Given the description of an element on the screen output the (x, y) to click on. 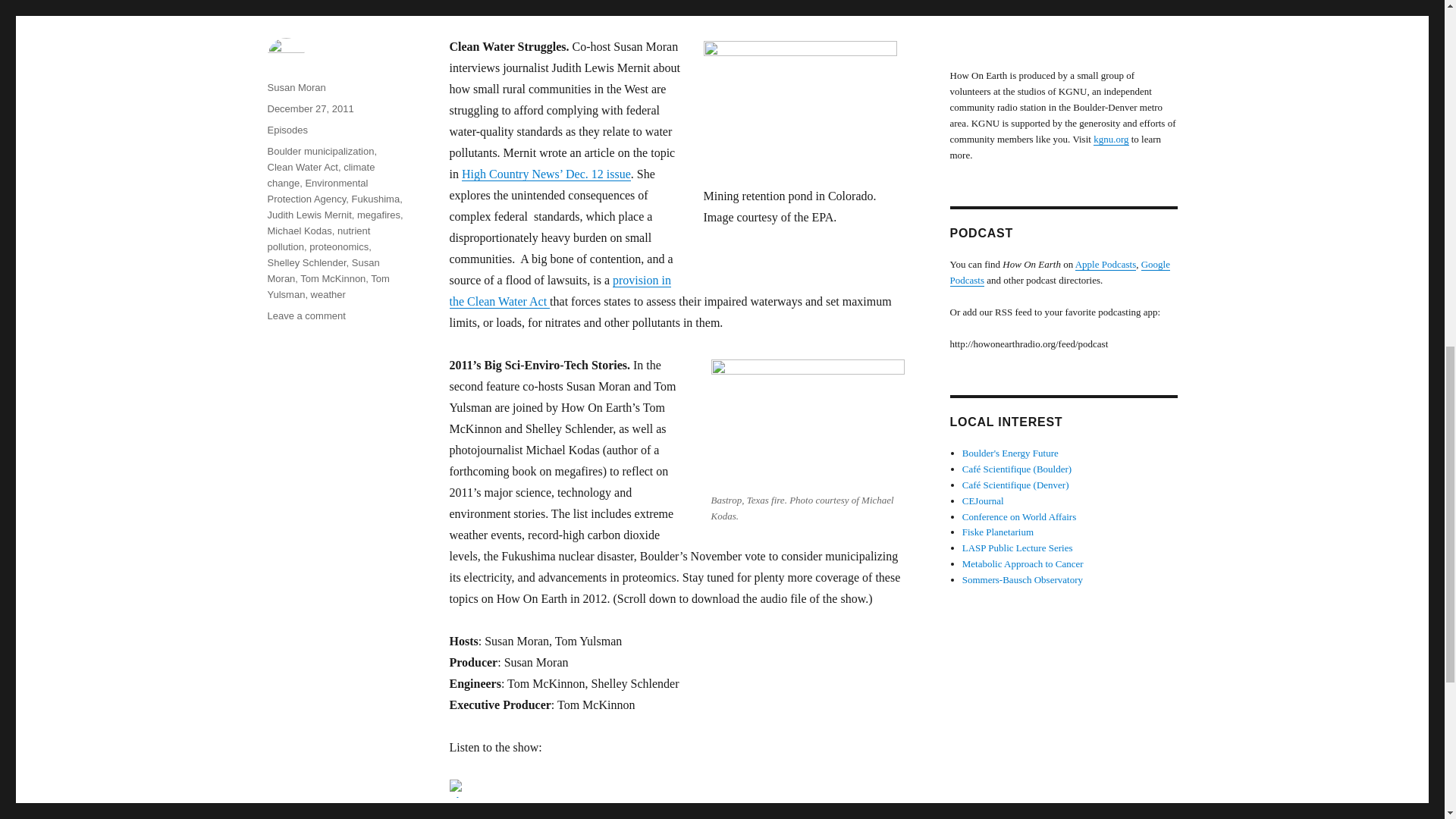
Play in new window (542, 807)
Play (456, 788)
Download (626, 807)
December 27, 2011 (309, 108)
Download (626, 807)
provision in the Clean Water Act (558, 290)
Susan Moran (295, 87)
Play (676, 788)
mining retention pond-Colorado (799, 112)
